Given the description of an element on the screen output the (x, y) to click on. 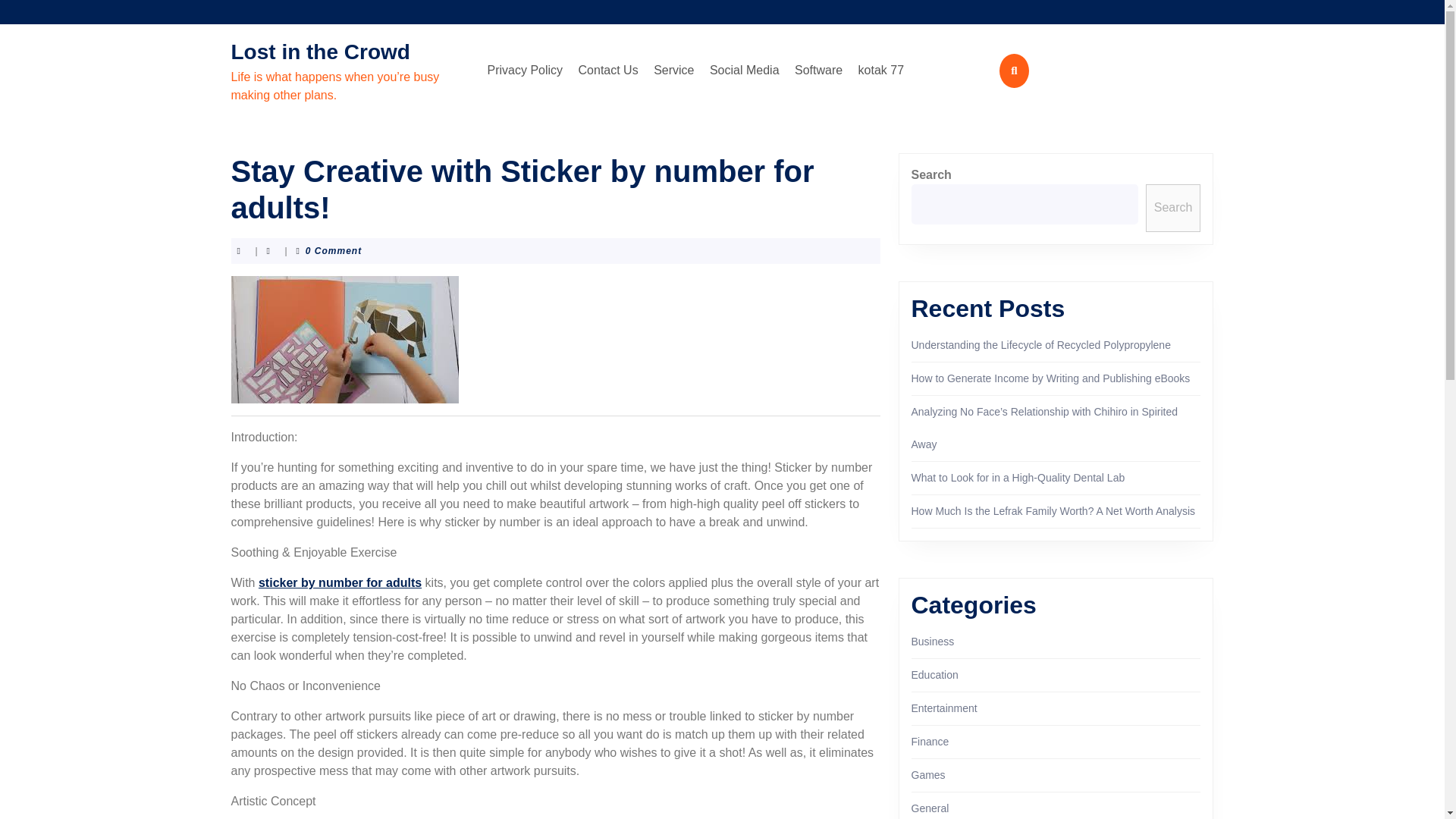
Games (927, 775)
Privacy Policy (524, 70)
kotak 77 (880, 70)
Education (934, 674)
Software (818, 70)
Understanding the Lifecycle of Recycled Polypropylene (1040, 345)
Contact Us (608, 70)
Service (673, 70)
Social Media (744, 70)
How Much Is the Lefrak Family Worth? A Net Worth Analysis (1053, 510)
